Given the description of an element on the screen output the (x, y) to click on. 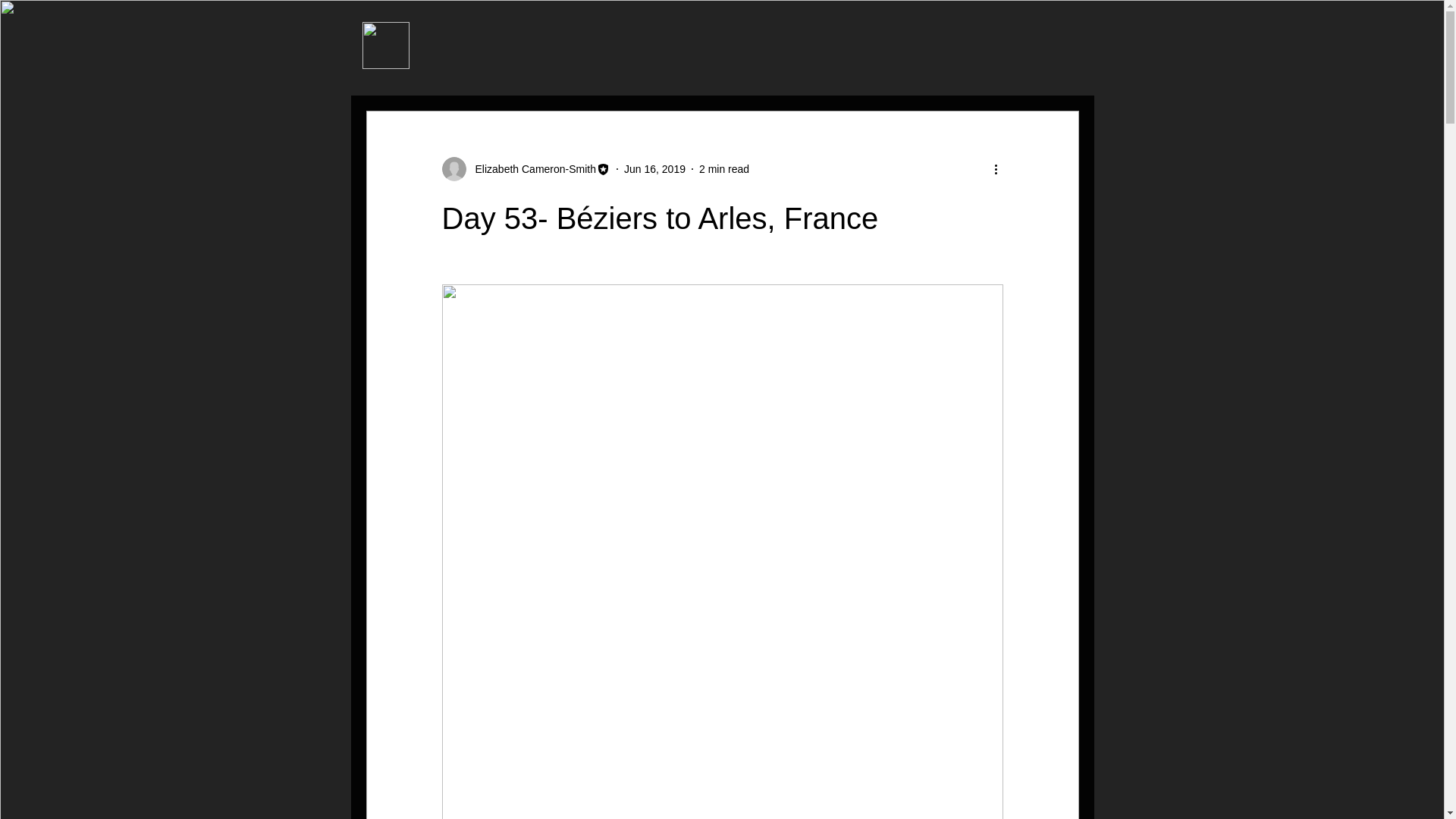
Jun 16, 2019 (654, 168)
Elizabeth Cameron-Smith (530, 168)
2 min read (723, 168)
